Given the description of an element on the screen output the (x, y) to click on. 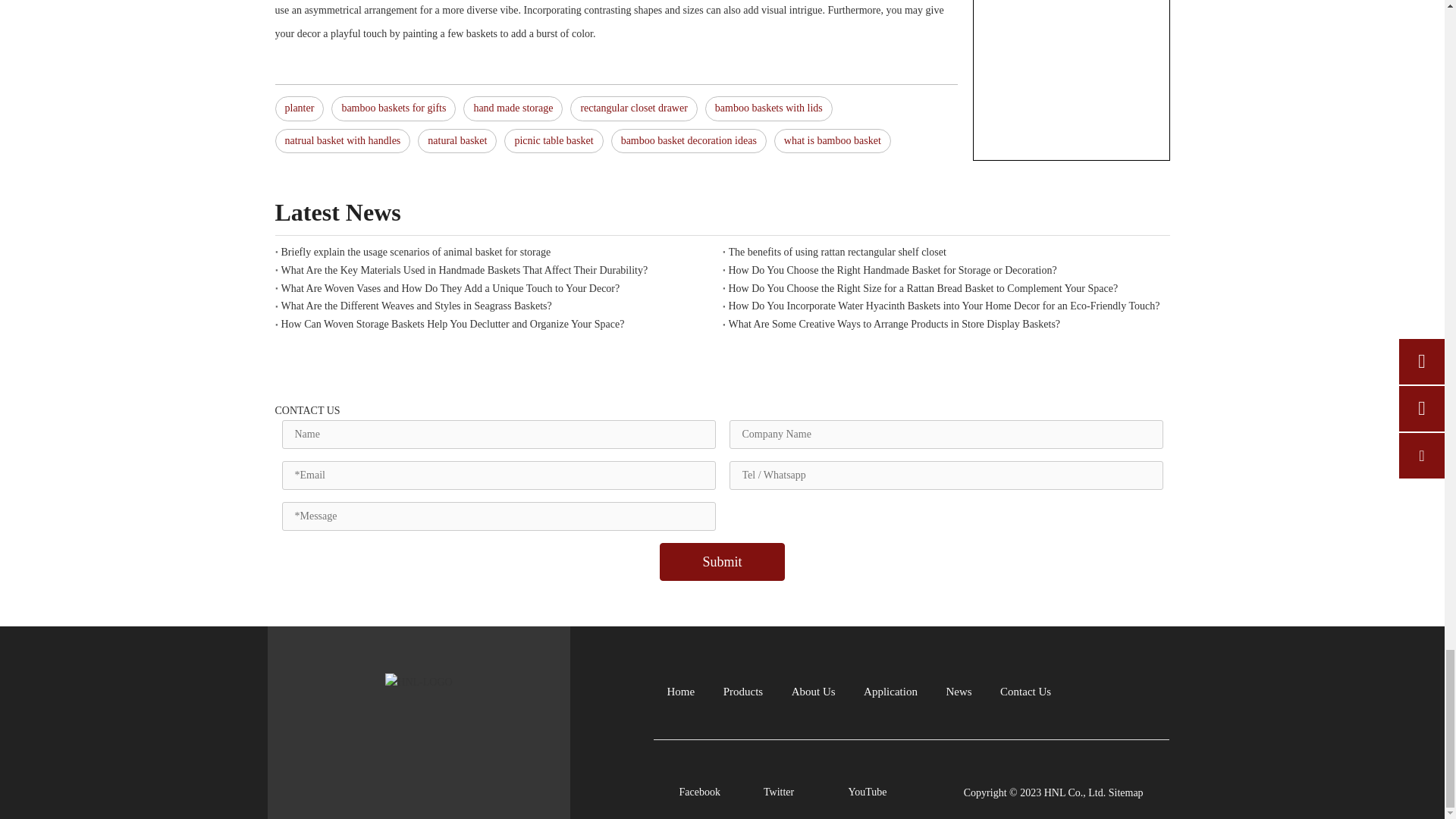
bamboo baskets with lids (768, 108)
bamboo baskets for gifts (393, 108)
natrual basket with handles (342, 140)
hand made storage (512, 108)
bamboo basket decoration ideas (689, 140)
The benefits of using rattan rectangular shelf closet (945, 252)
what is bamboo basket (832, 140)
picnic table basket (552, 140)
rectangular closet drawer (633, 108)
natural basket (456, 140)
